Given the description of an element on the screen output the (x, y) to click on. 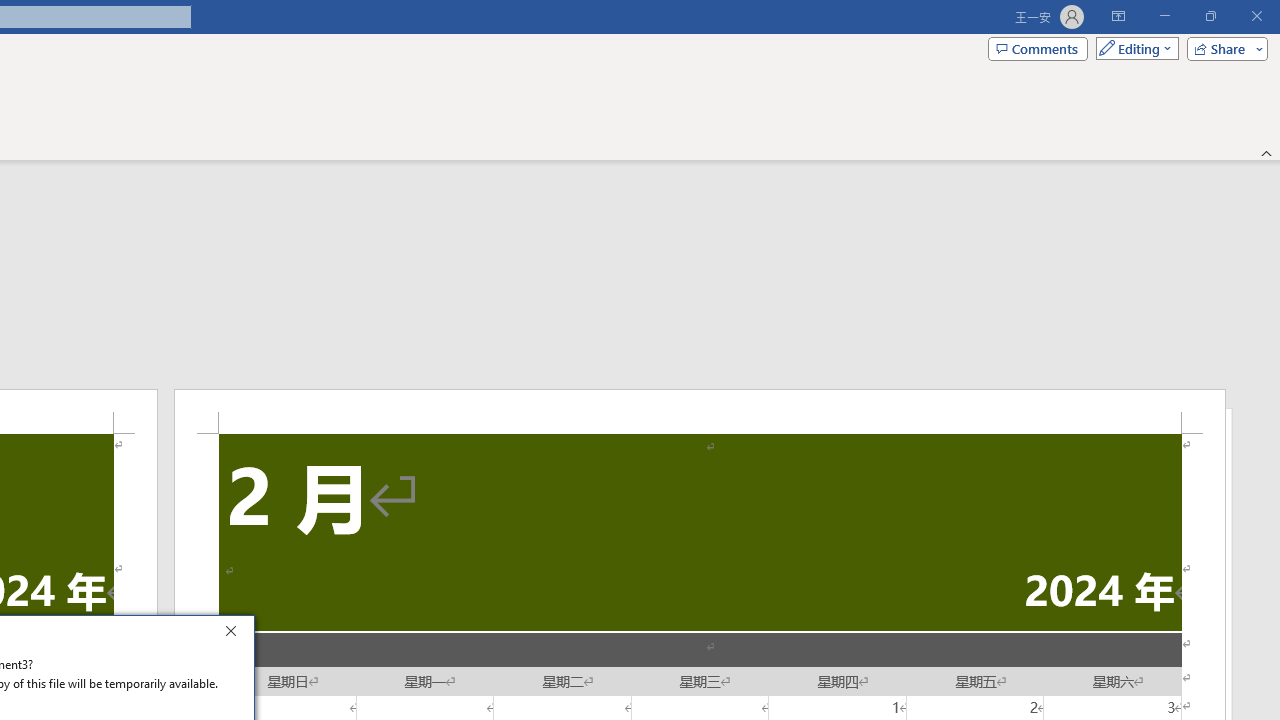
Header -Section 2- (700, 411)
